Given the description of an element on the screen output the (x, y) to click on. 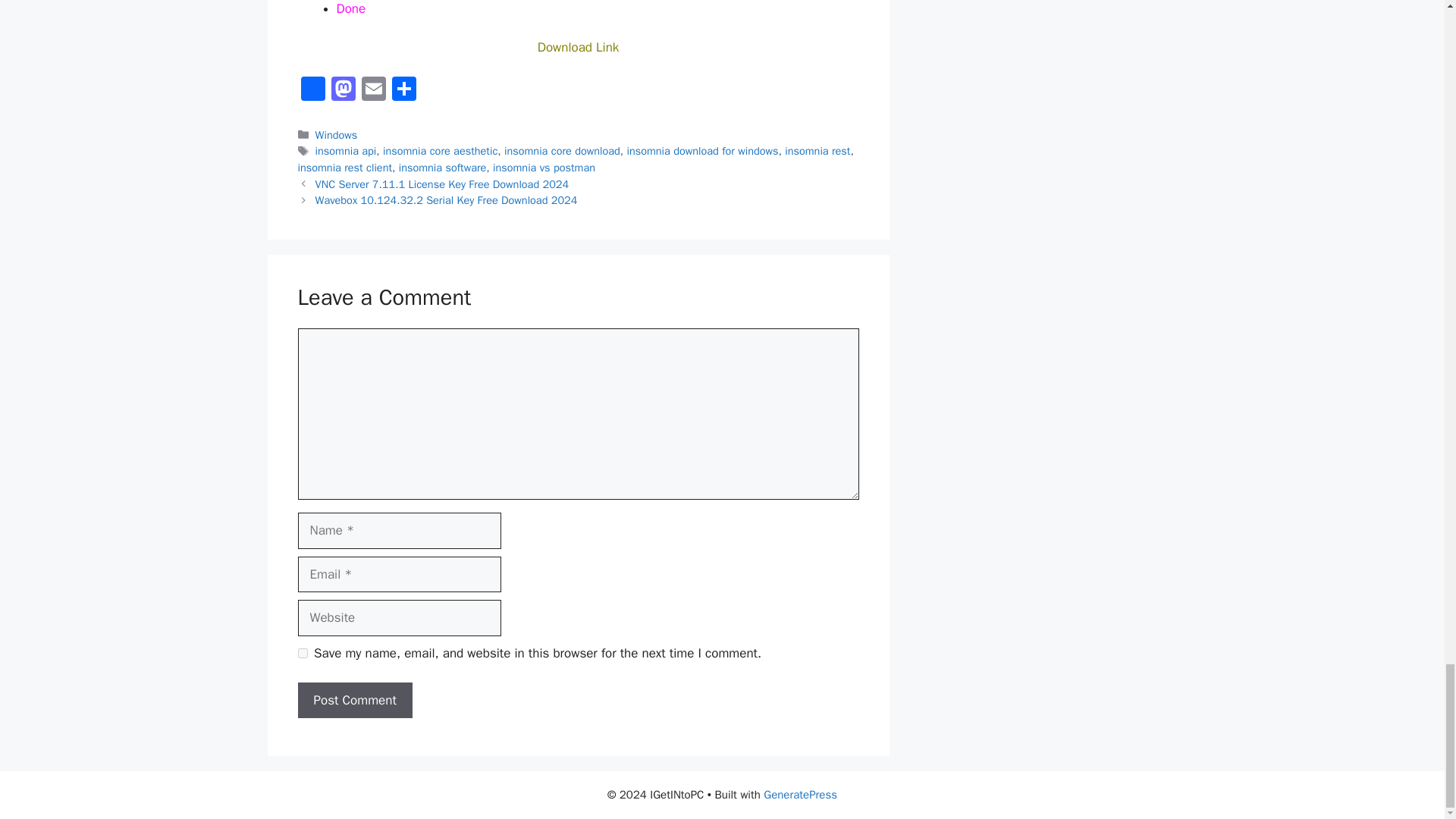
yes (302, 653)
insomnia api (346, 151)
insomnia core download (561, 151)
Facebook (312, 90)
insomnia core aesthetic (439, 151)
Email (373, 90)
Post Comment (354, 700)
Mastodon (342, 90)
insomnia rest client (344, 167)
Windows (336, 134)
Download Link (578, 47)
insomnia download for windows (701, 151)
insomnia rest (817, 151)
